Given the description of an element on the screen output the (x, y) to click on. 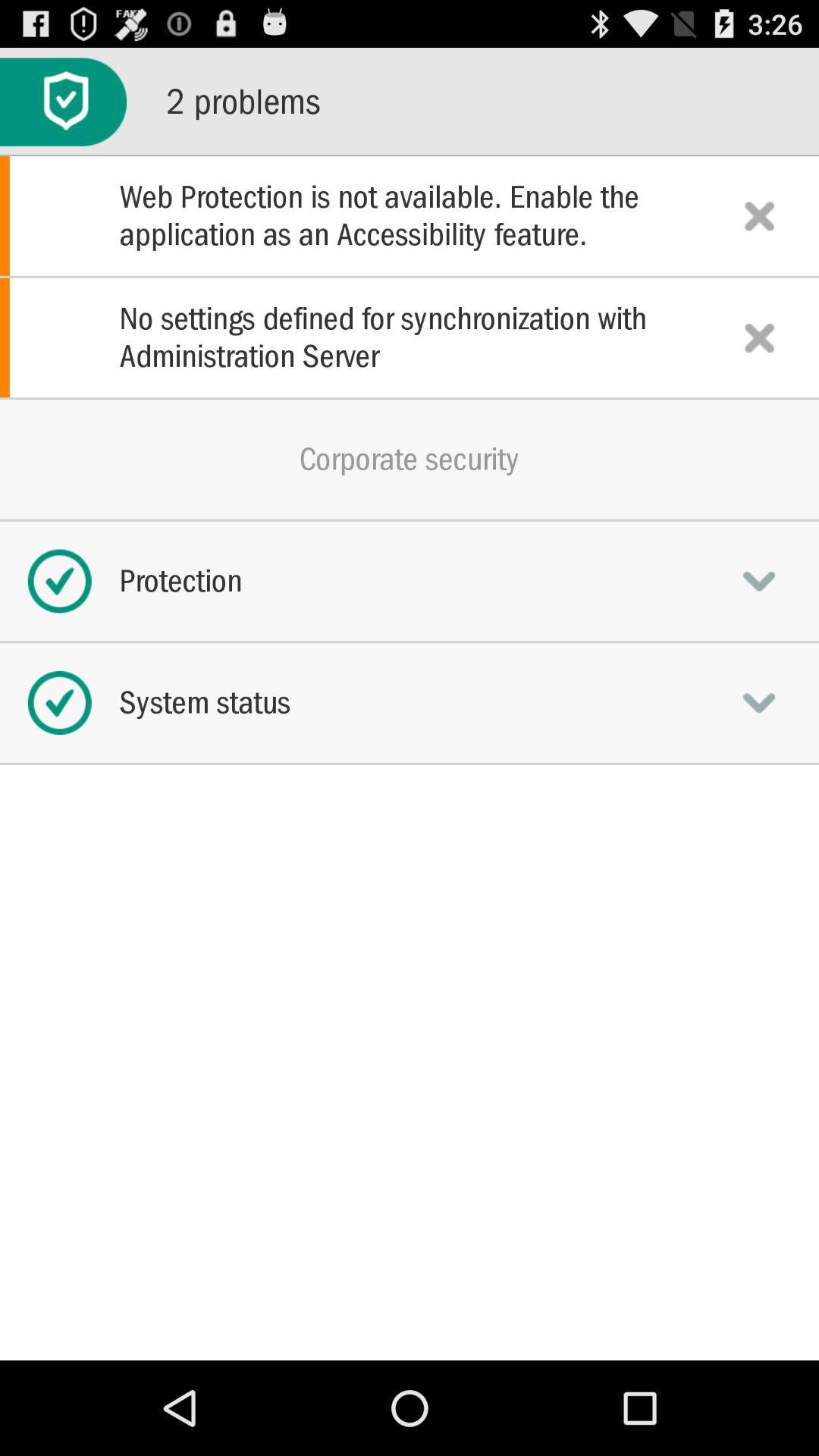
scroll until the system status item (409, 702)
